Given the description of an element on the screen output the (x, y) to click on. 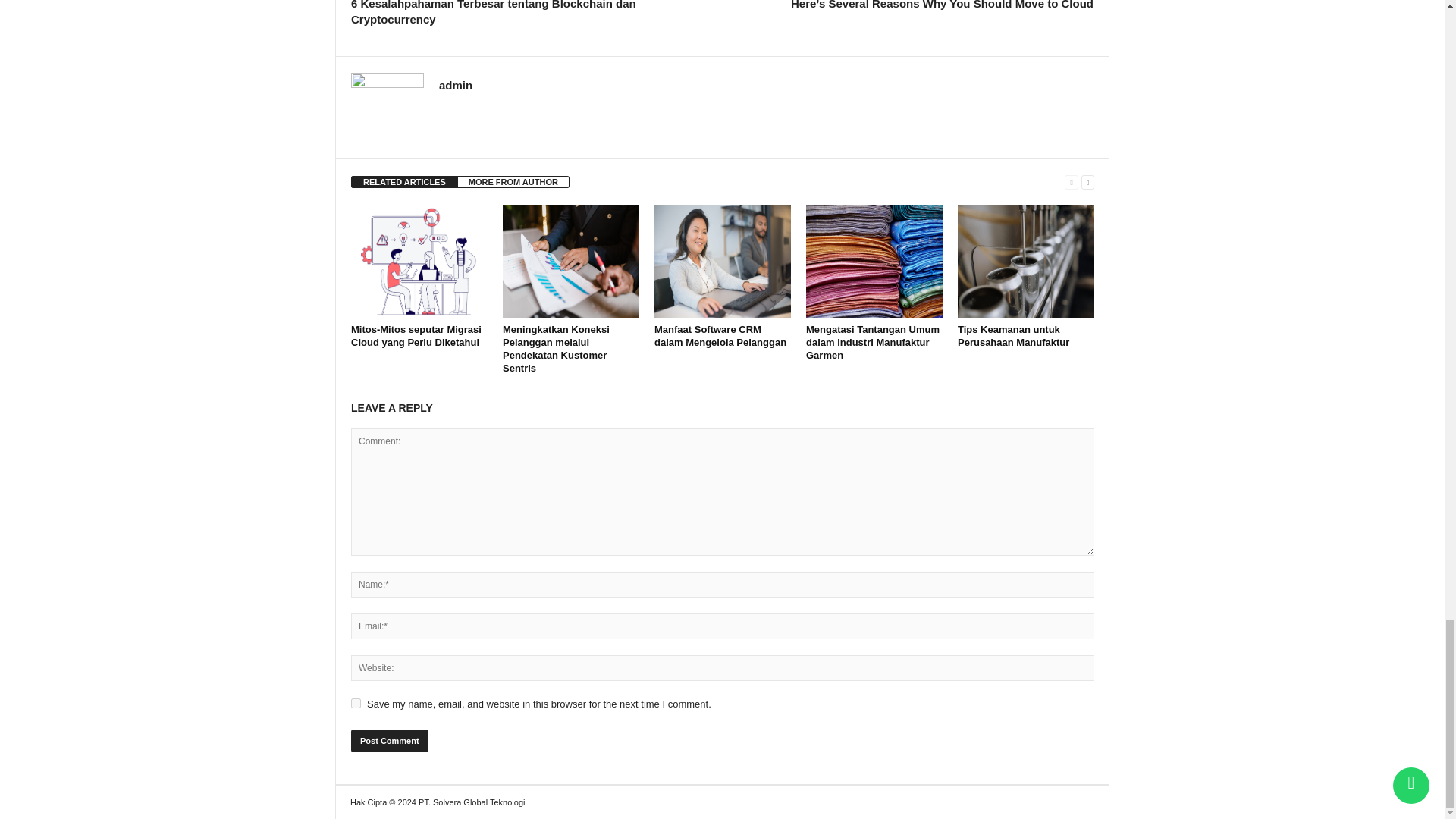
Manfaat Software CRM dalam Mengelola Pelanggan (721, 261)
yes (355, 703)
Post Comment (389, 740)
Mitos-Mitos seputar Migrasi Cloud yang Perlu Diketahui (418, 261)
Mitos-Mitos seputar Migrasi Cloud yang Perlu Diketahui (415, 335)
